Given the description of an element on the screen output the (x, y) to click on. 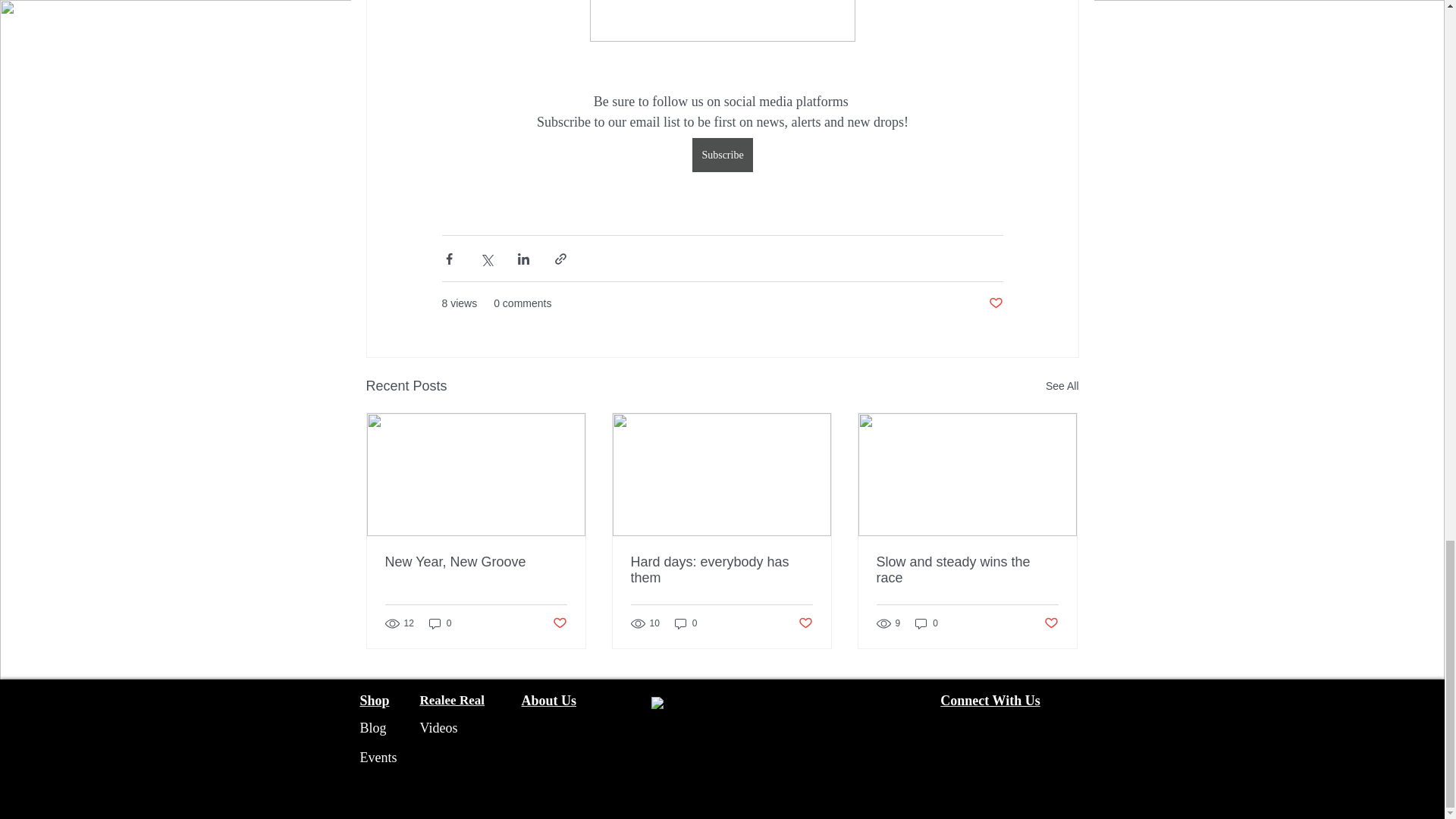
Post not marked as liked (995, 303)
Slow and steady wins the race (967, 570)
Post not marked as liked (558, 623)
0 (926, 623)
Post not marked as liked (804, 623)
See All (1061, 386)
Post not marked as liked (1050, 623)
Subscribe (722, 154)
Shop (373, 700)
0 (685, 623)
